Given the description of an element on the screen output the (x, y) to click on. 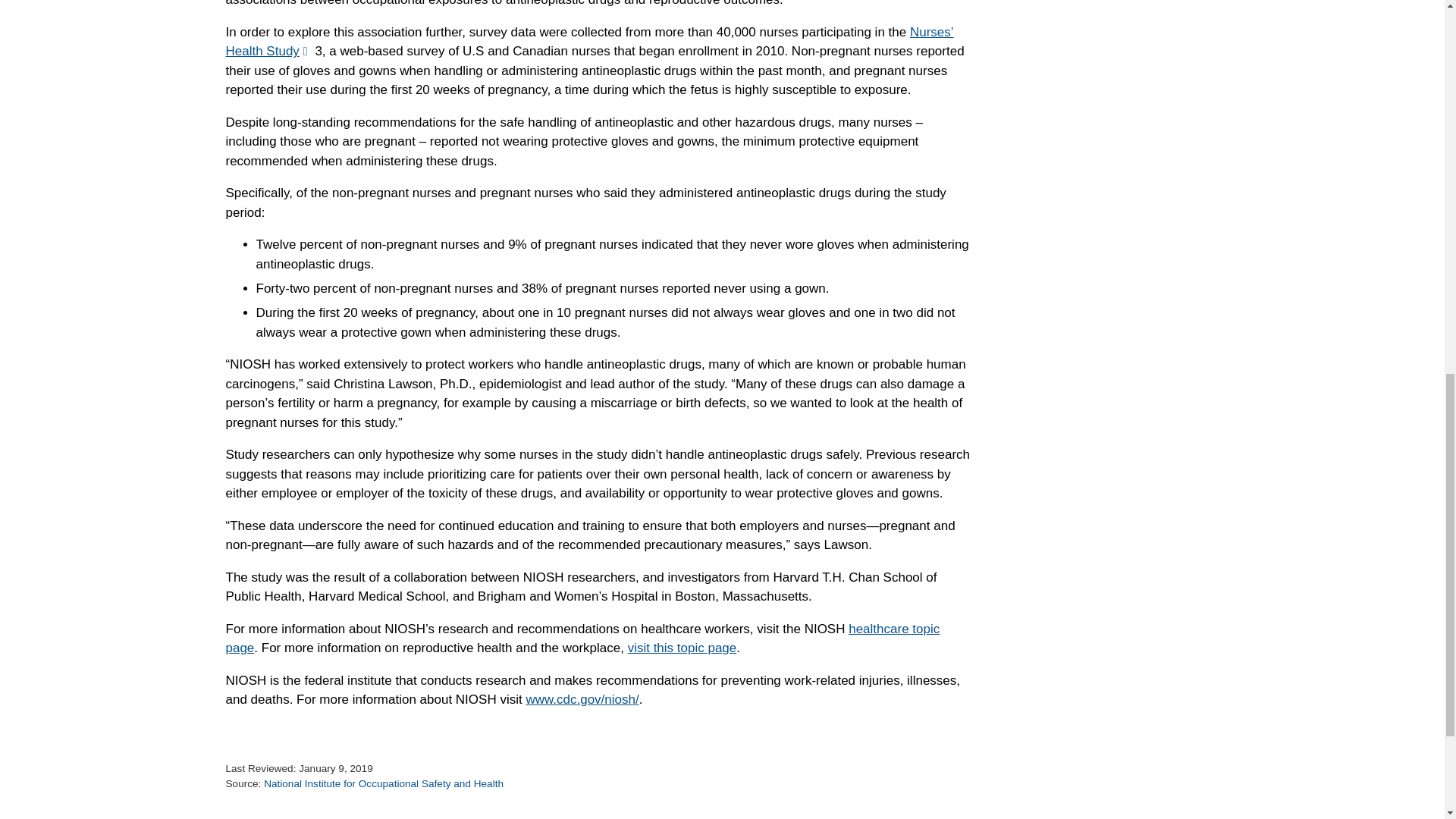
healthcare topic page (582, 638)
visit this topic page (681, 647)
National Institute for Occupational Safety and Health (383, 783)
